Given the description of an element on the screen output the (x, y) to click on. 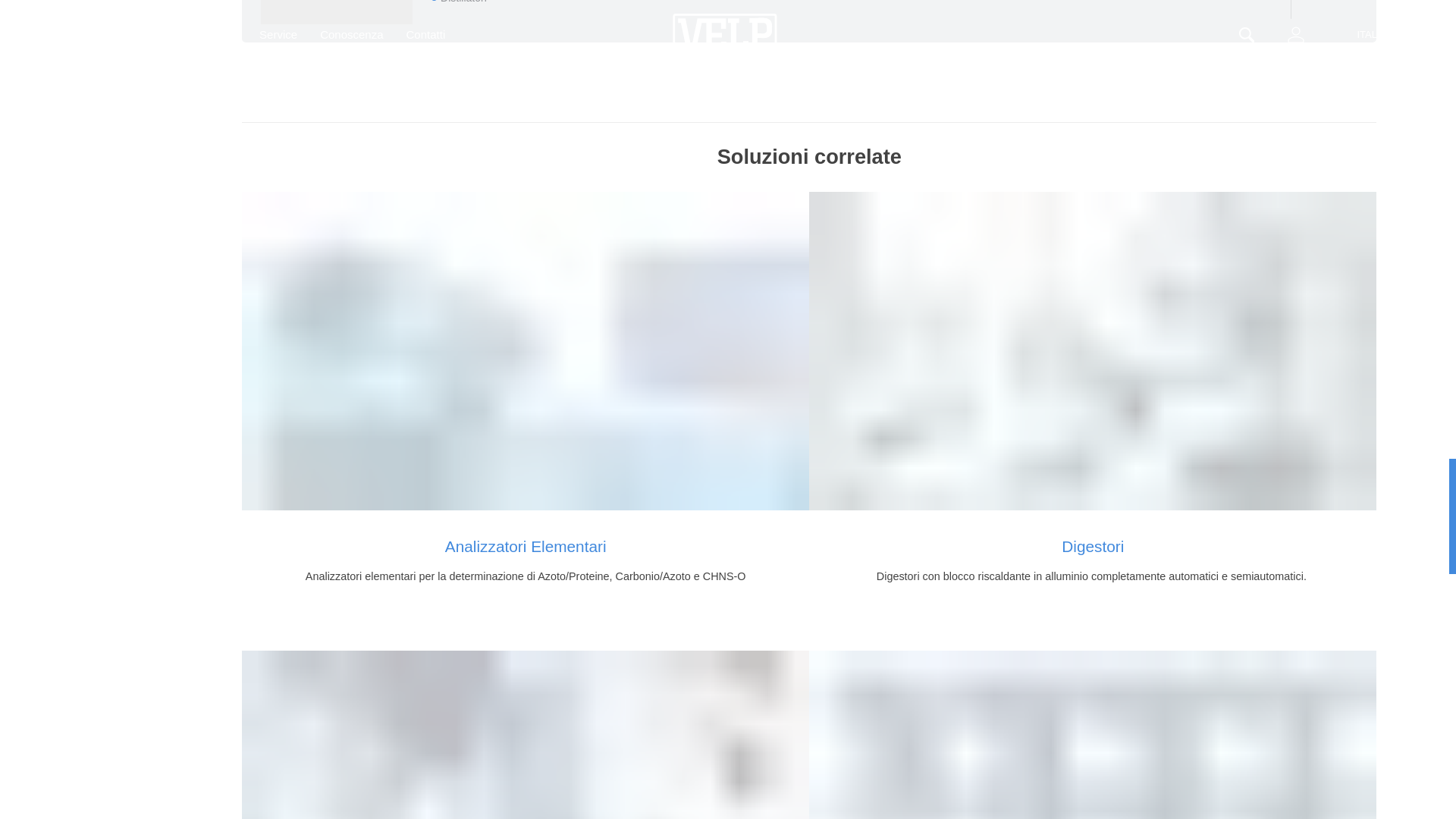
Distillatori  (525, 734)
Estrattori a solventi (1092, 734)
